Given the description of an element on the screen output the (x, y) to click on. 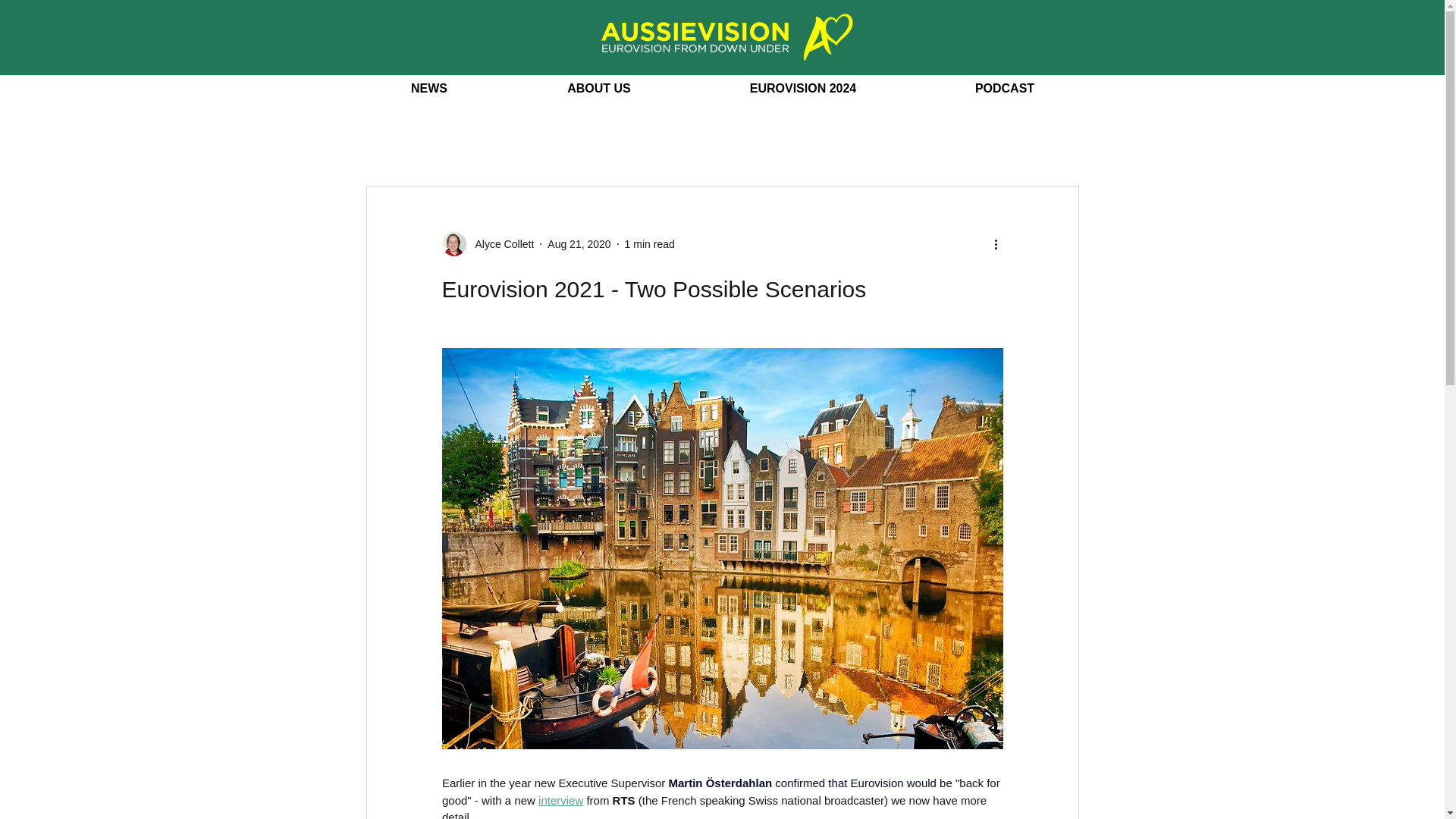
NEWS (428, 88)
Aug 21, 2020 (578, 244)
PODCAST (1004, 88)
EUROVISION 2024 (802, 88)
Embedded Content (660, 146)
1 min read (649, 244)
interview (560, 799)
Alyce Collett (499, 244)
ABOUT US (599, 88)
